Given the description of an element on the screen output the (x, y) to click on. 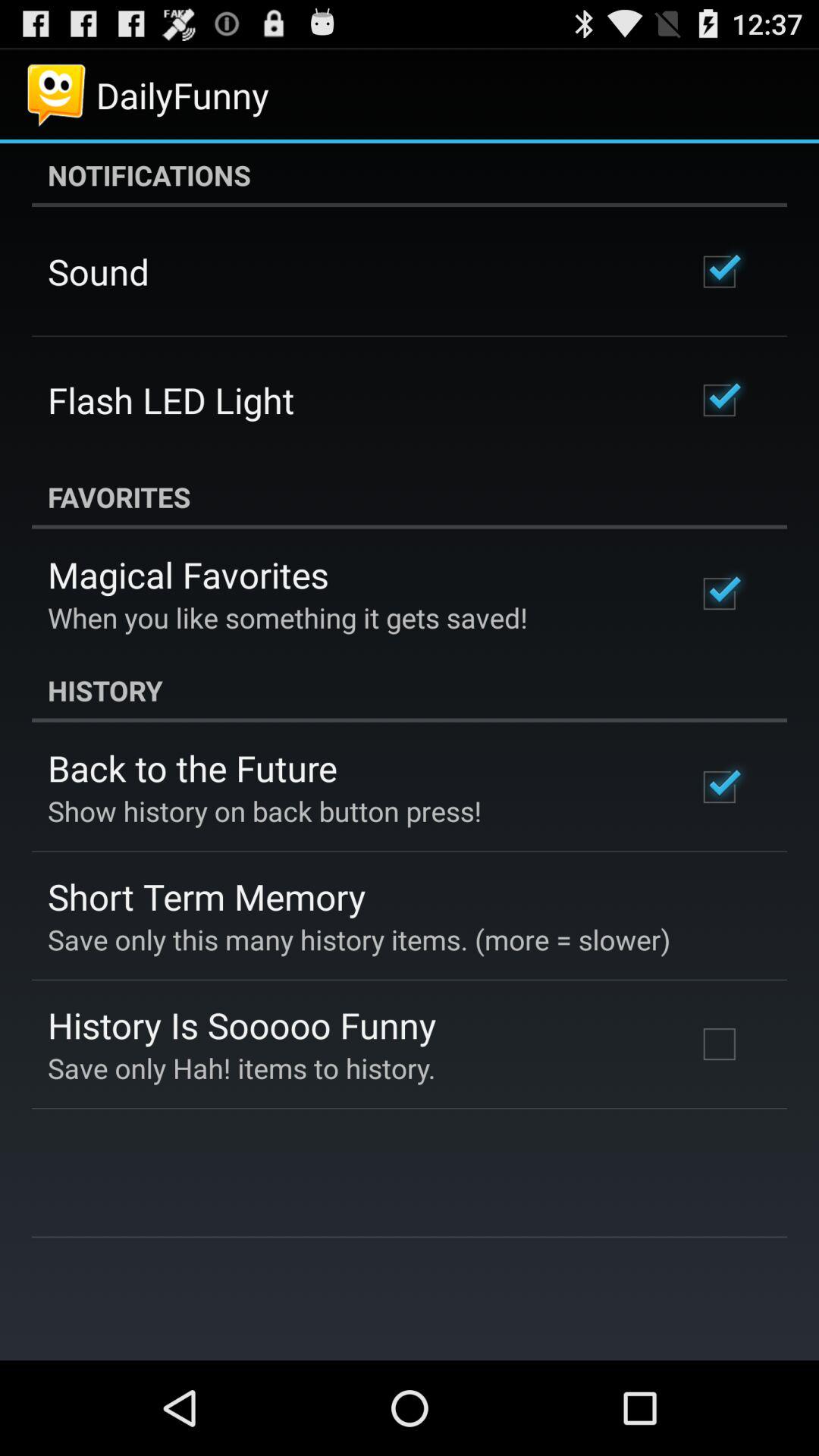
open the app above show history on icon (192, 767)
